Given the description of an element on the screen output the (x, y) to click on. 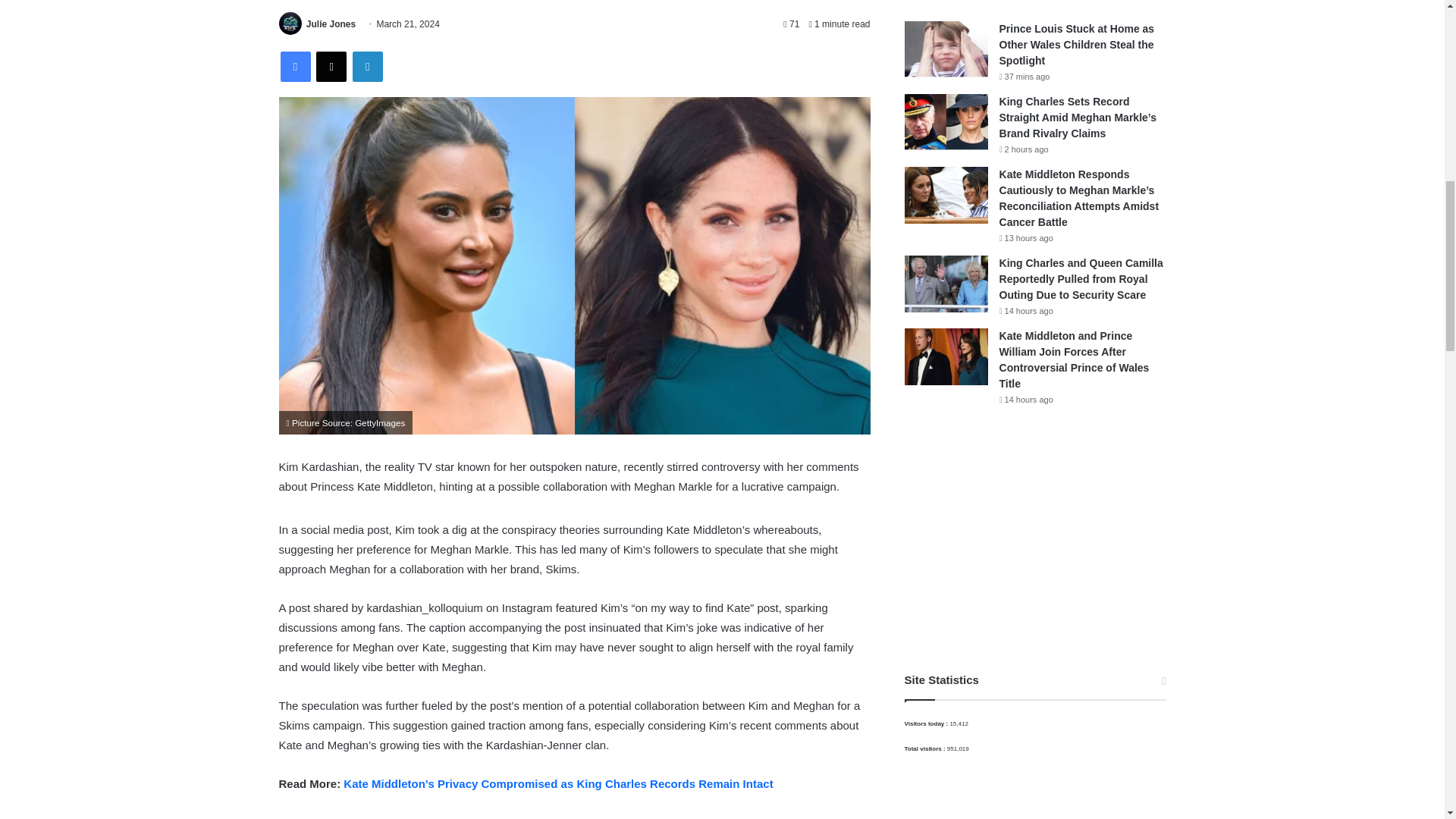
Facebook (296, 66)
Julie Jones (330, 23)
Facebook (296, 66)
LinkedIn (367, 66)
Julie Jones (330, 23)
X (330, 66)
LinkedIn (367, 66)
X (330, 66)
